Given the description of an element on the screen output the (x, y) to click on. 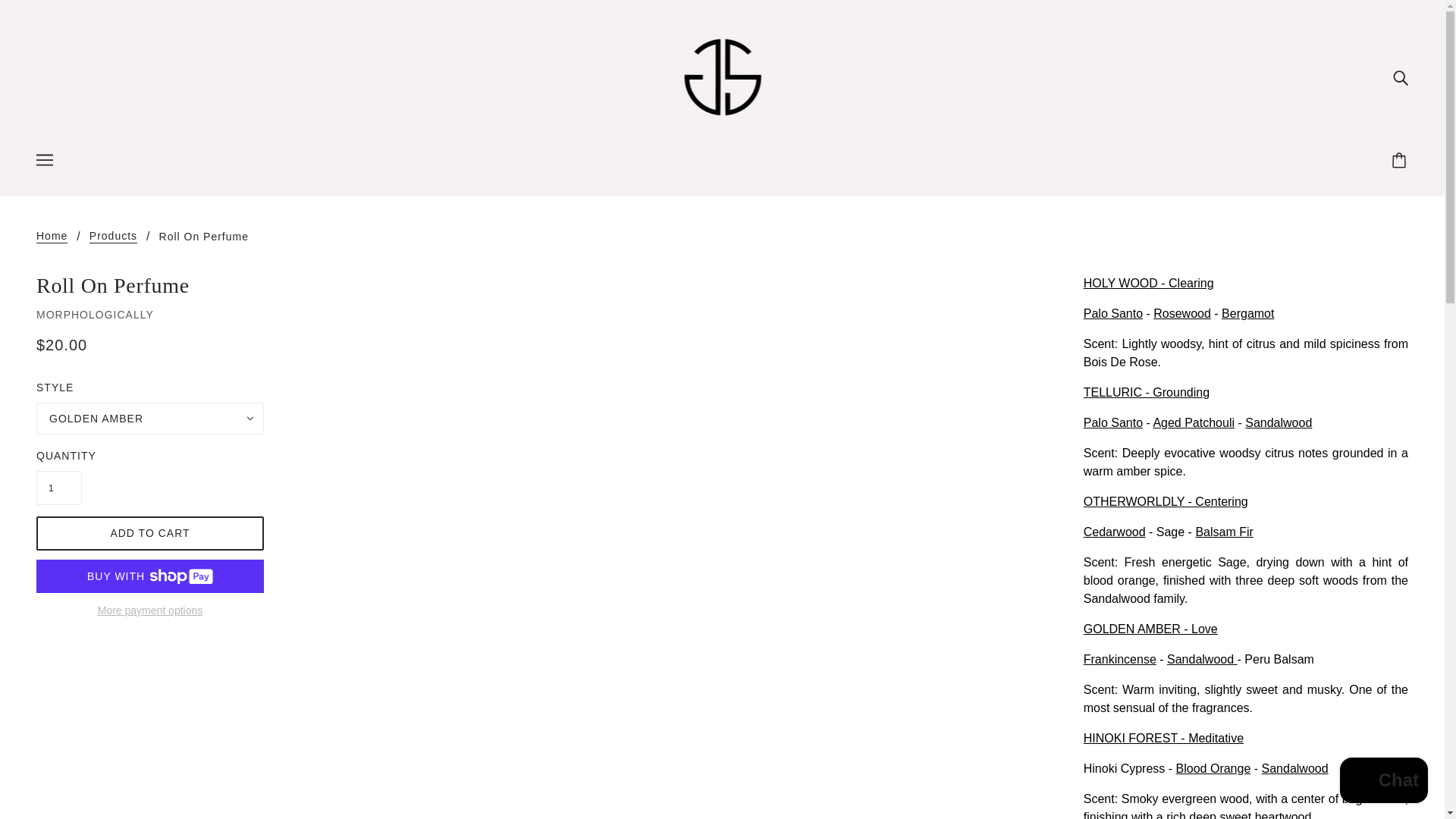
 Good Neighbor Oakland (722, 76)
Shopify online store chat (1383, 781)
1 (58, 487)
